Given the description of an element on the screen output the (x, y) to click on. 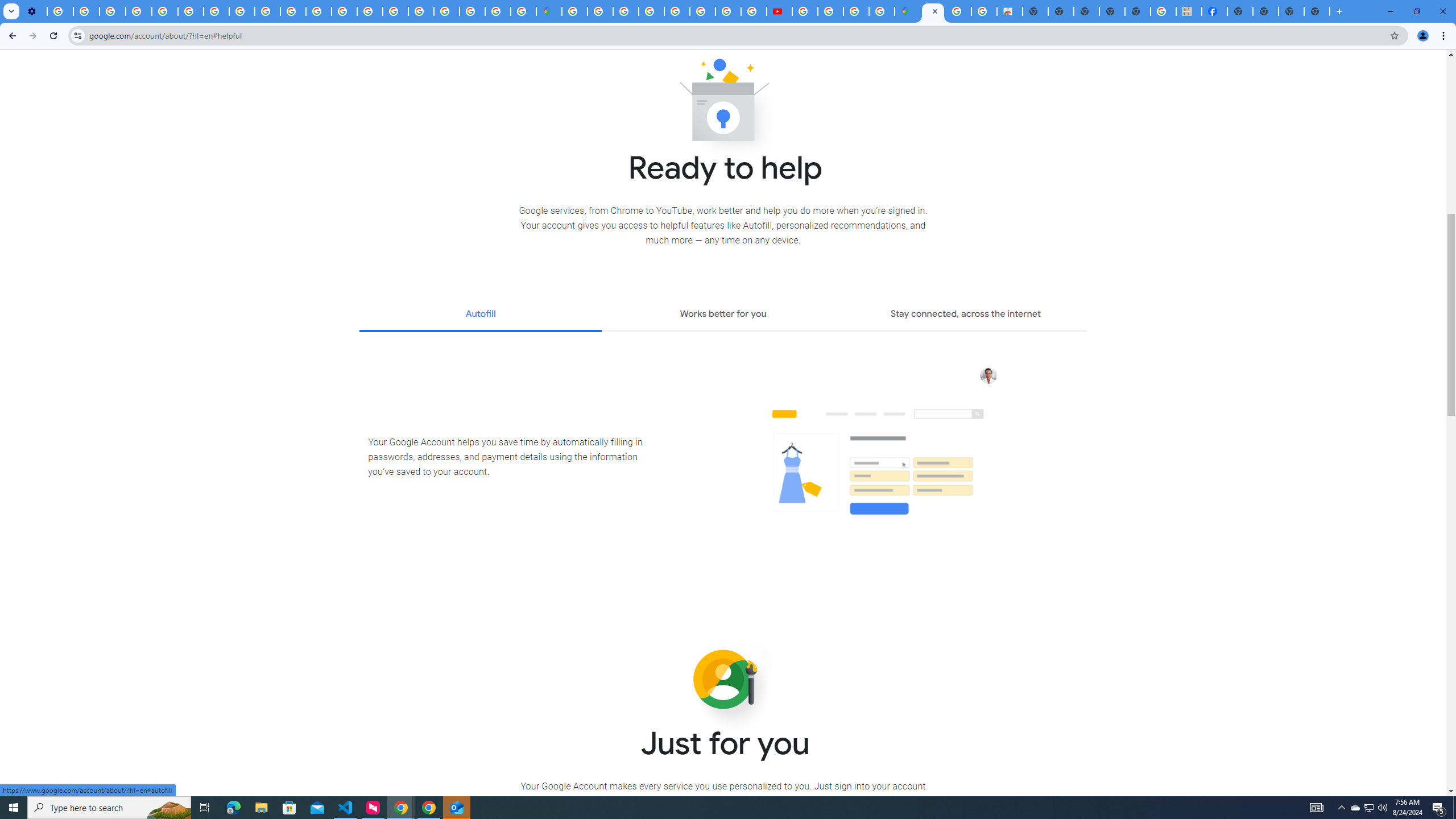
Sign in - Google Accounts (446, 11)
Privacy Checkup (293, 11)
YouTube (190, 11)
